Given the description of an element on the screen output the (x, y) to click on. 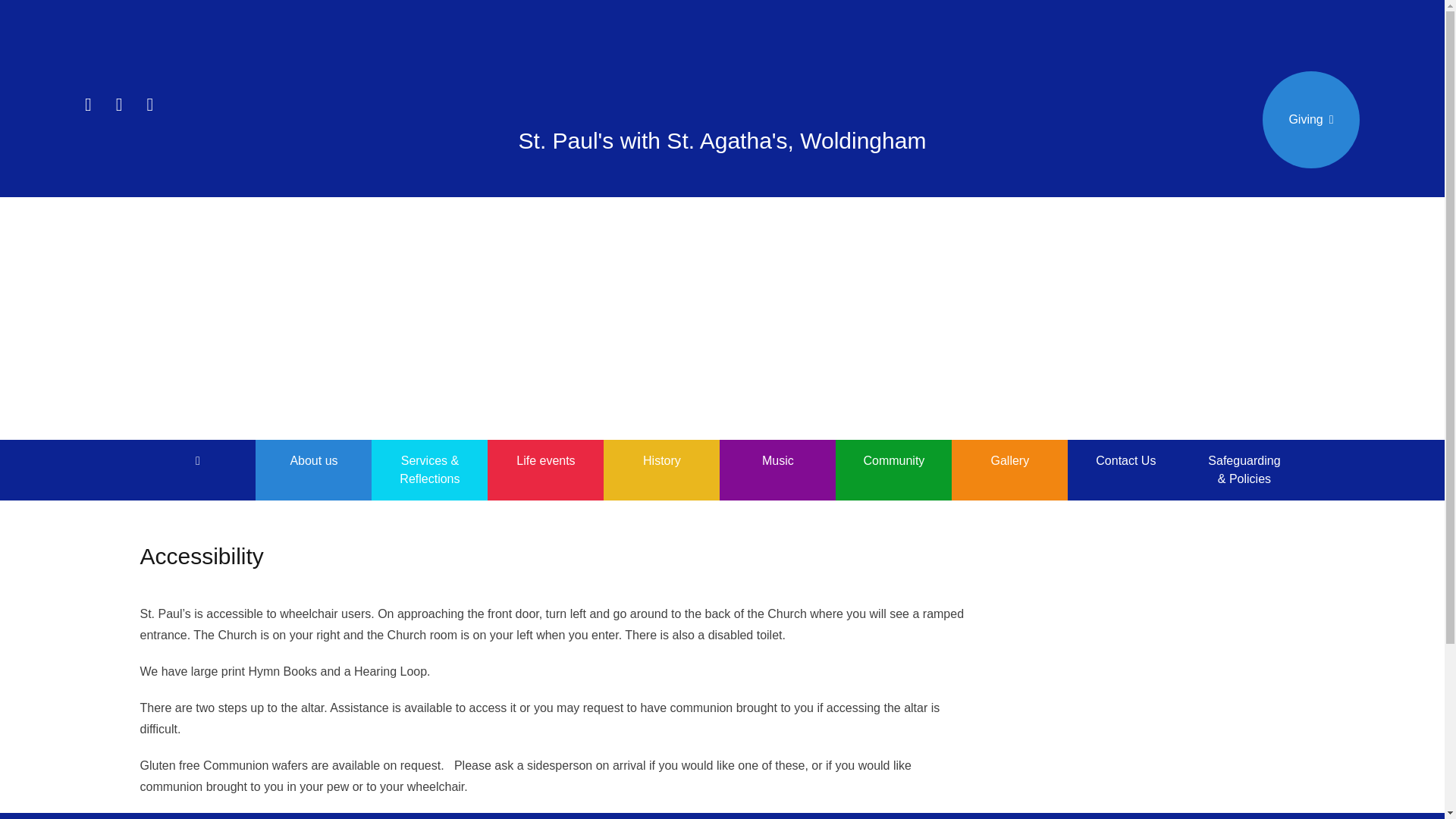
Gallery (1009, 460)
Life events (545, 460)
Community (893, 460)
Contact Us (1125, 460)
Music (777, 460)
St. Paul's with St. Agatha's, Woldingham (722, 140)
Giving (1310, 119)
About us (313, 460)
History (661, 460)
